Given the description of an element on the screen output the (x, y) to click on. 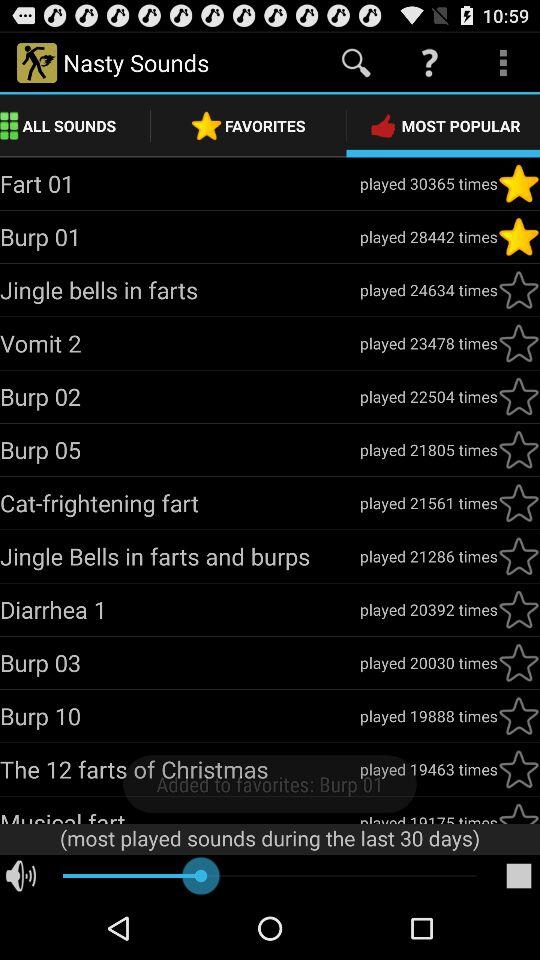
to favorite (519, 609)
